Given the description of an element on the screen output the (x, y) to click on. 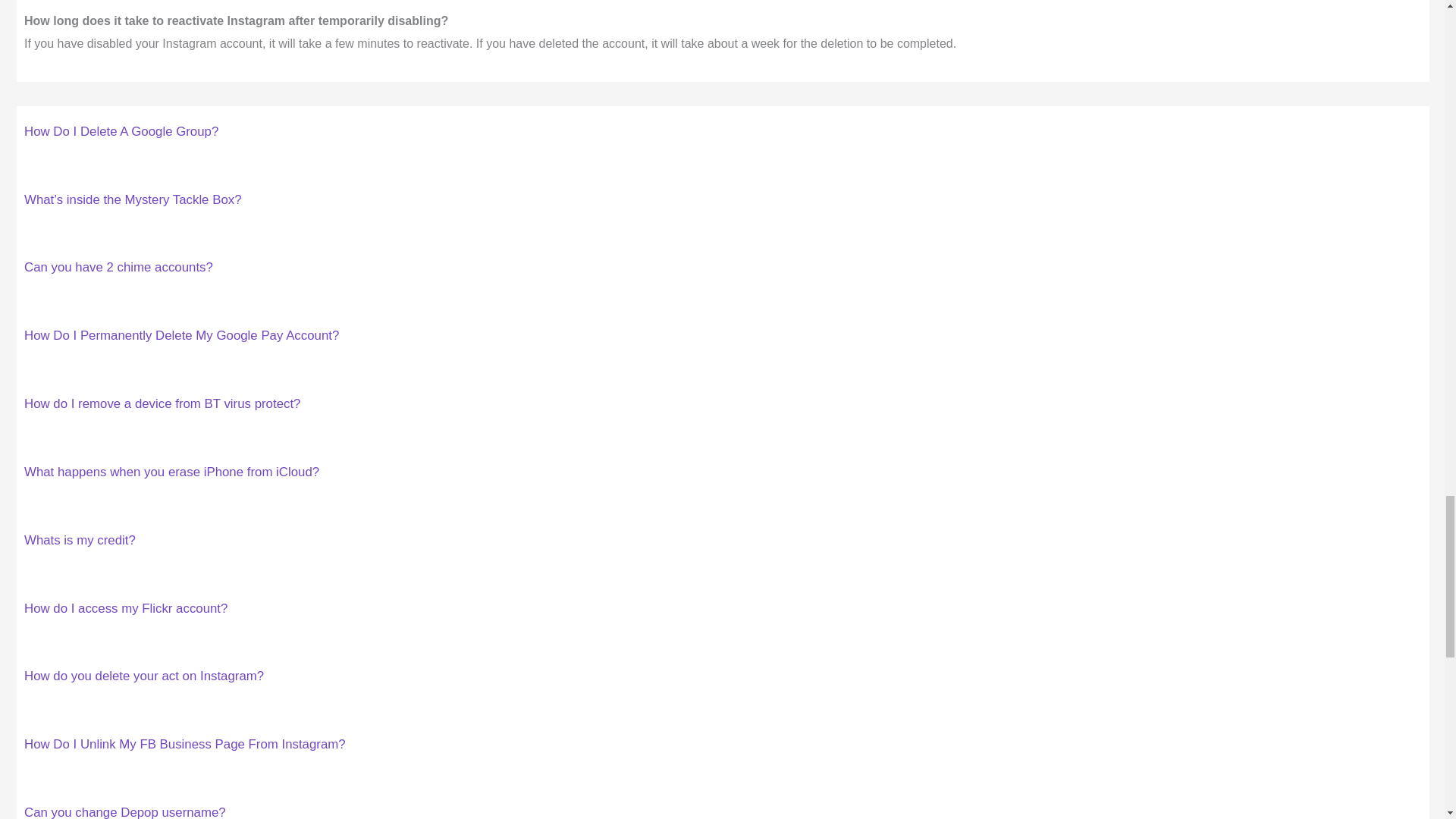
How do I access my Flickr account? (125, 608)
Can you change Depop username? (124, 812)
How Do I Permanently Delete My Google Pay Account? (181, 335)
Can you have 2 chime accounts? (118, 267)
Whats is my credit? (79, 540)
How Do I Unlink My FB Business Page From Instagram? (185, 744)
How do you delete your act on Instagram? (143, 676)
What happens when you erase iPhone from iCloud? (171, 472)
How Do I Delete A Google Group? (121, 131)
How do I remove a device from BT virus protect? (161, 403)
